Given the description of an element on the screen output the (x, y) to click on. 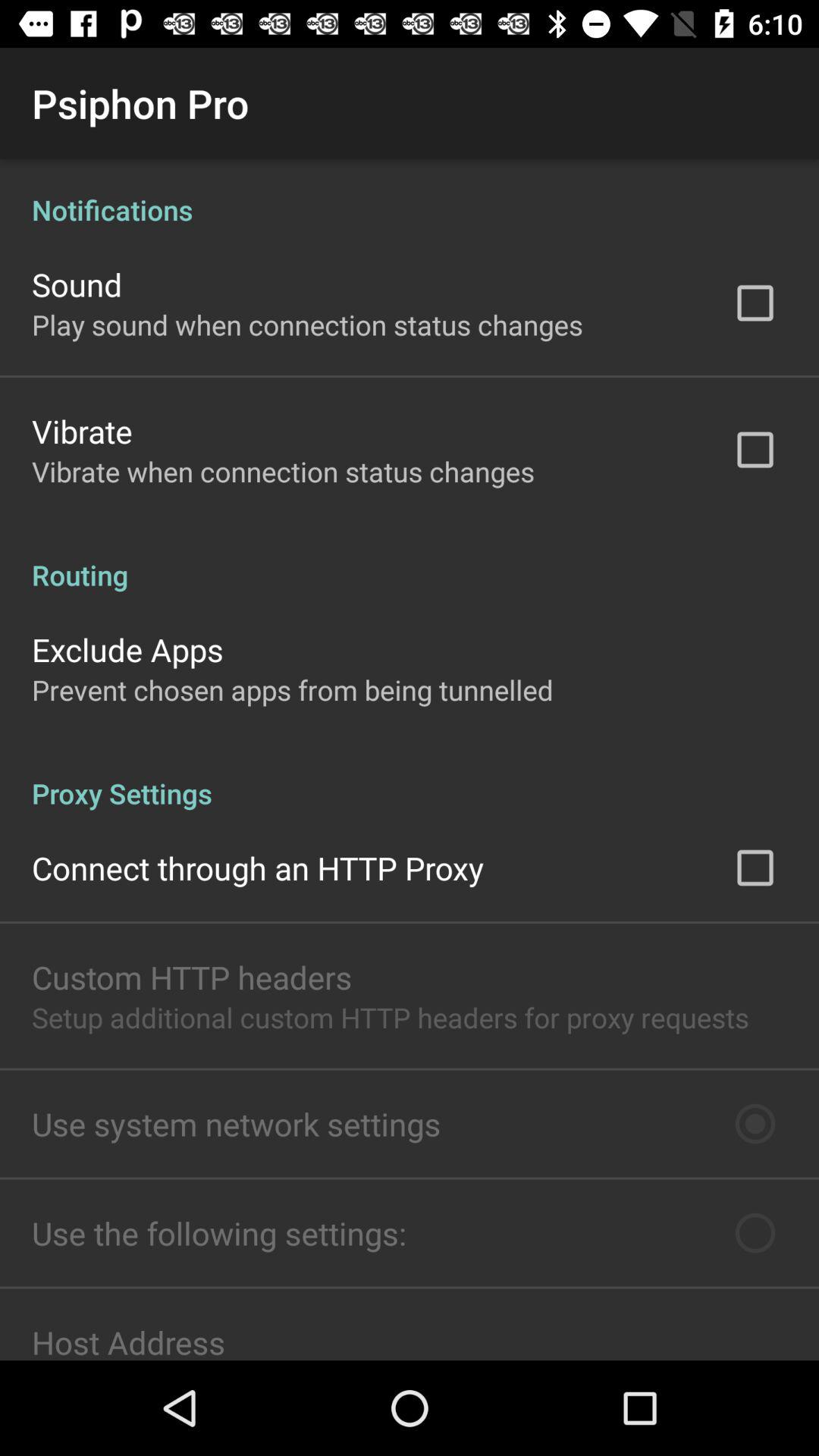
open notifications item (409, 193)
